Given the description of an element on the screen output the (x, y) to click on. 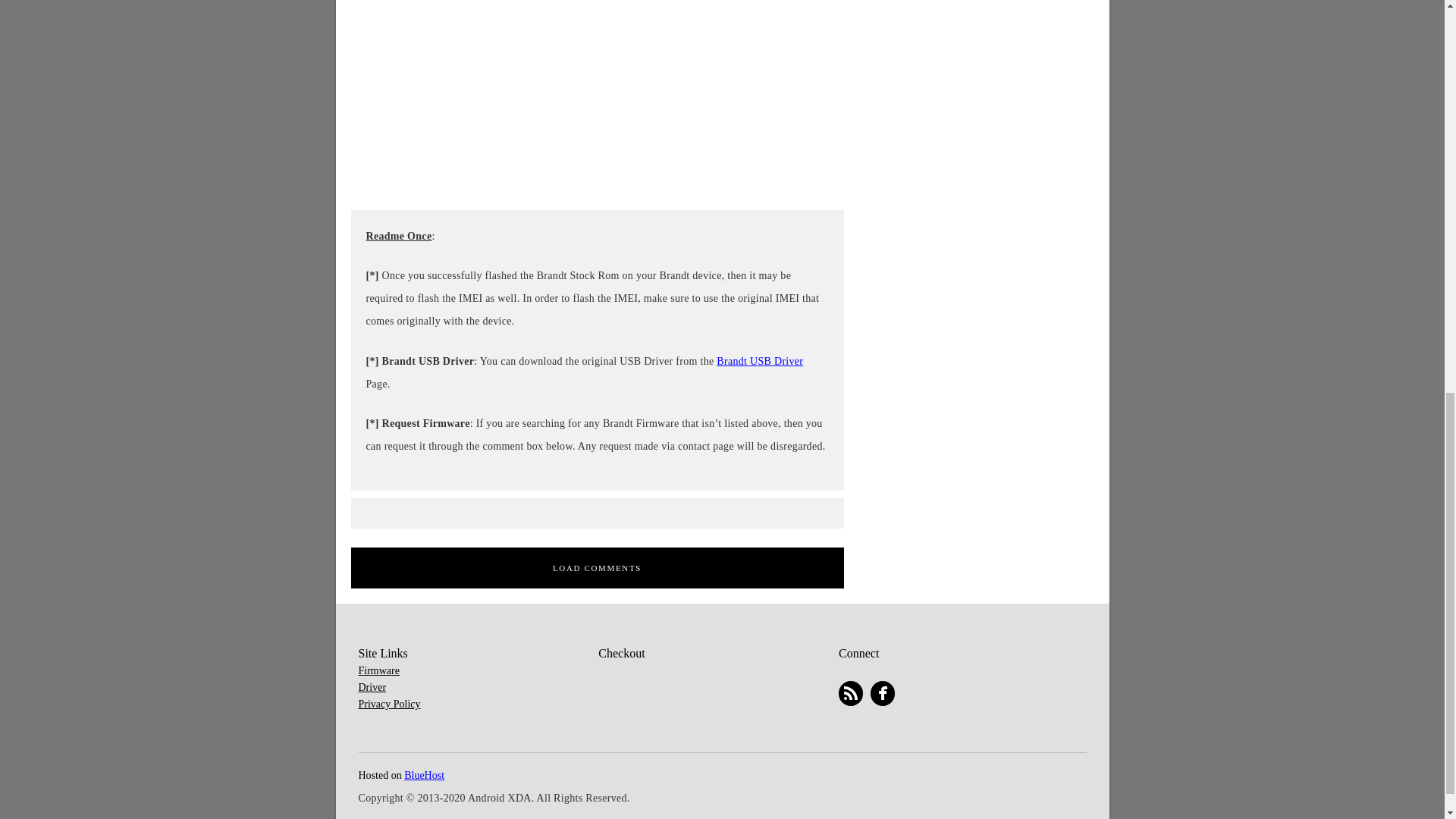
Privacy Policy (389, 704)
Advertisement (979, 59)
Facebook (882, 692)
Brandt USB Driver (759, 360)
RSS (850, 692)
BlueHost (424, 775)
Driver (371, 686)
LOAD COMMENTS (596, 567)
Advertisement (596, 99)
Firmware (378, 670)
